Given the description of an element on the screen output the (x, y) to click on. 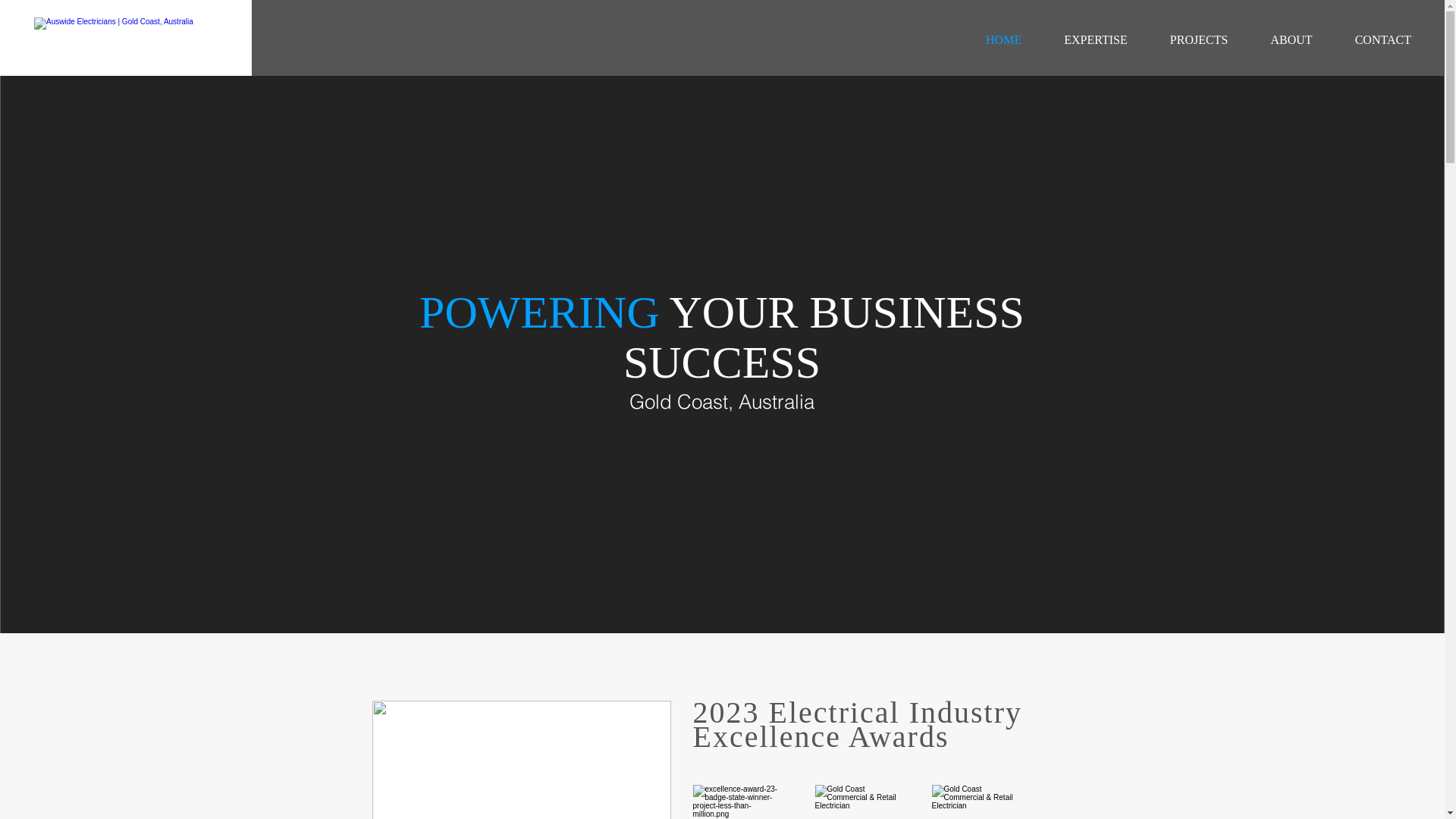
PROJECTS Element type: text (1198, 39)
EXPERTISE Element type: text (1095, 39)
HOME Element type: text (1003, 39)
ABOUT Element type: text (1291, 39)
CONTACT Element type: text (1382, 39)
